Given the description of an element on the screen output the (x, y) to click on. 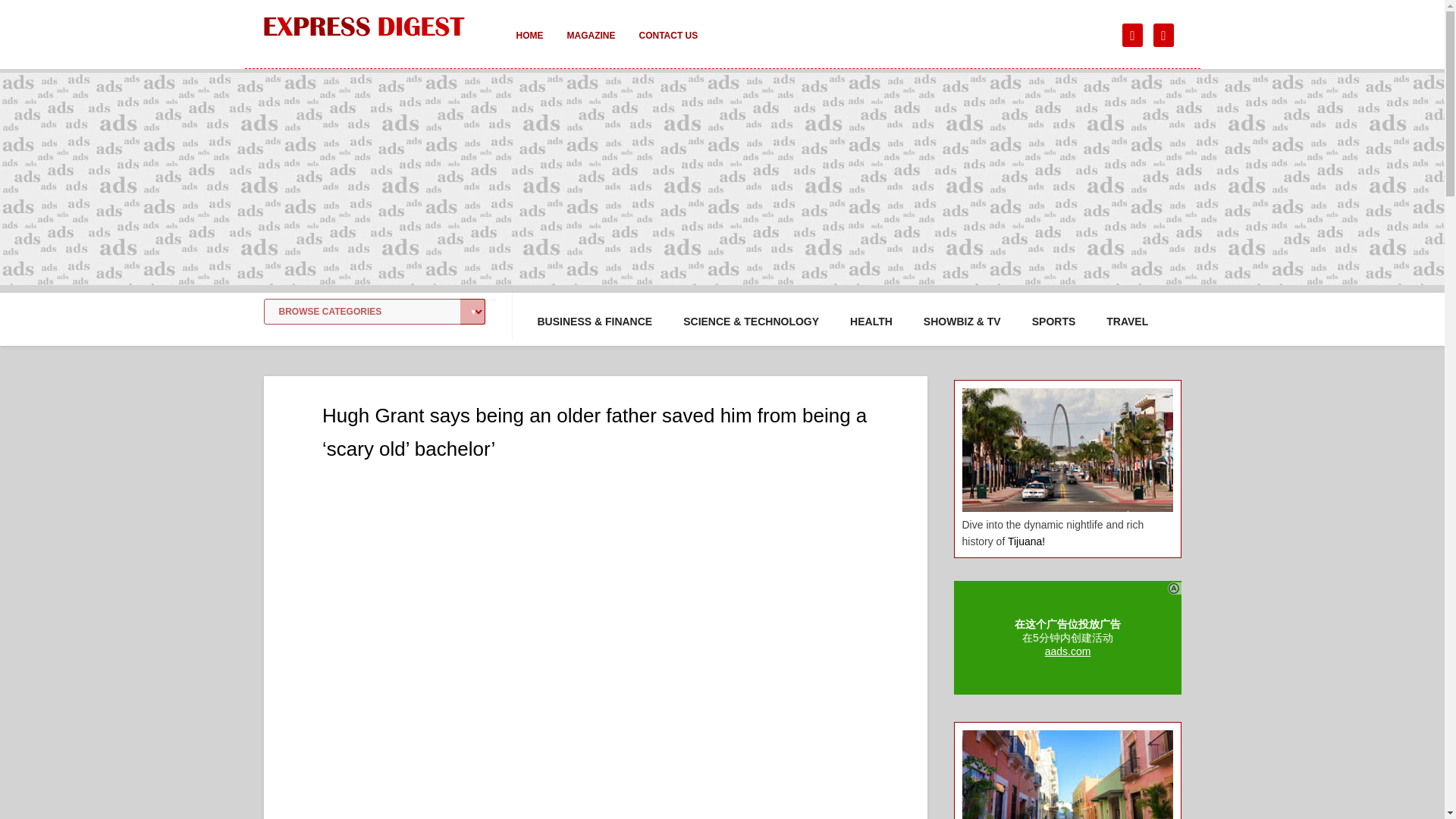
TRAVEL (1127, 321)
CONTACT US (667, 45)
MAGAZINE (590, 45)
HEALTH (871, 321)
SPORTS (1053, 321)
Tijuana! (1026, 541)
